Given the description of an element on the screen output the (x, y) to click on. 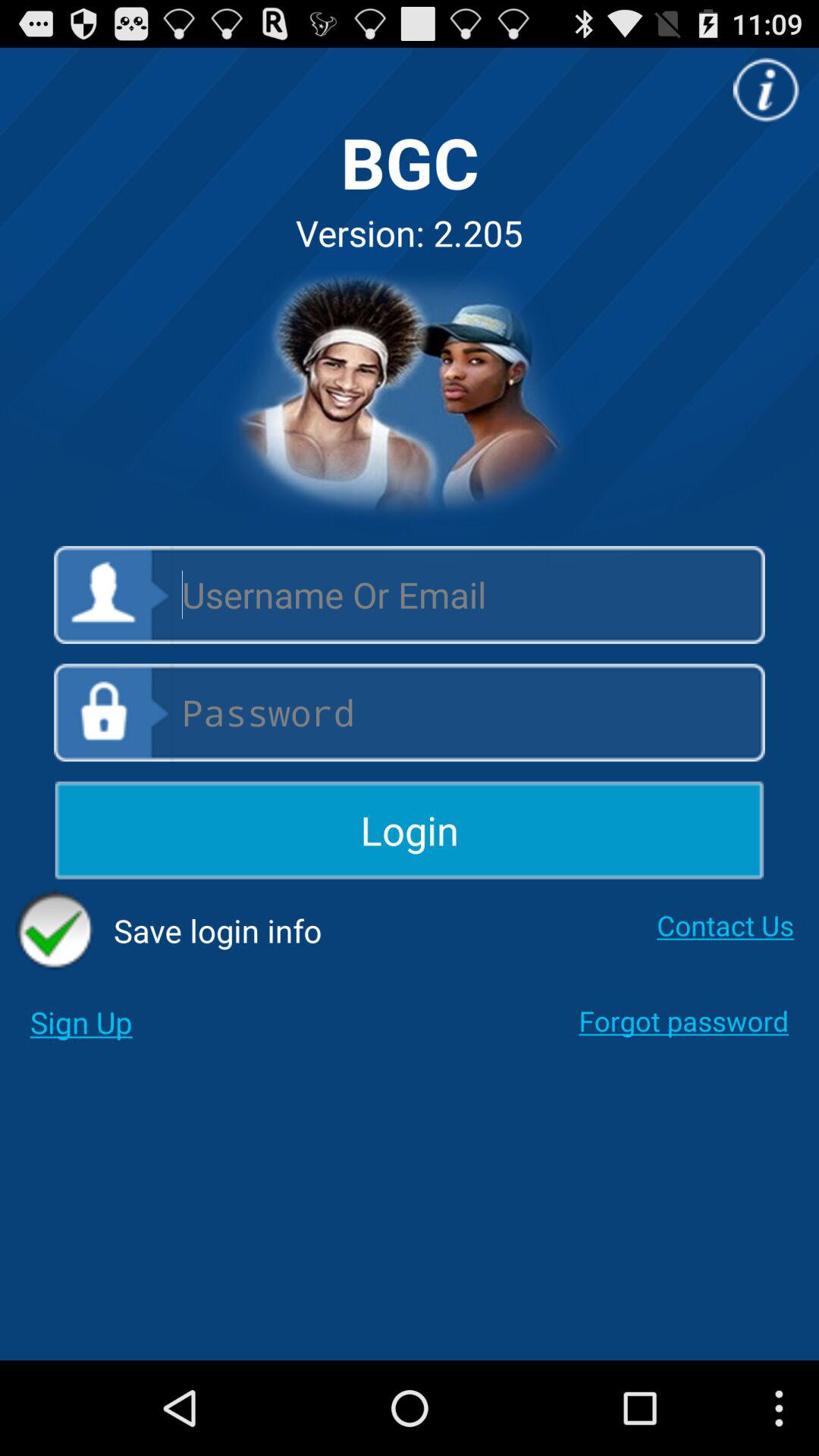
open icon next to contact us icon (168, 930)
